Given the description of an element on the screen output the (x, y) to click on. 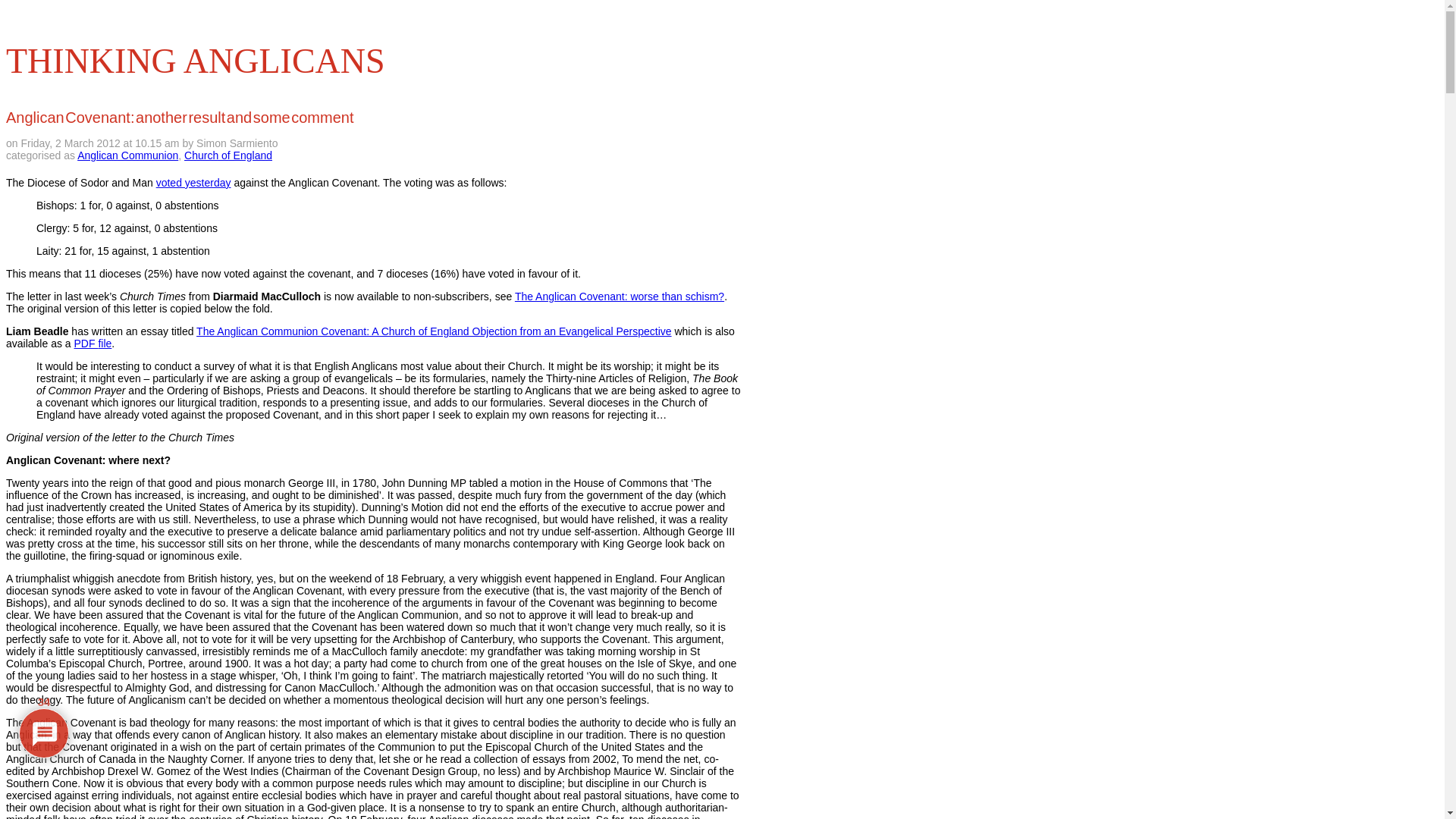
Church of England (228, 155)
PDF file (93, 343)
The Anglican Covenant: worse than schism? (619, 296)
THINKING ANGLICANS (195, 60)
Anglican Communion (127, 155)
voted yesterday (193, 182)
